Given the description of an element on the screen output the (x, y) to click on. 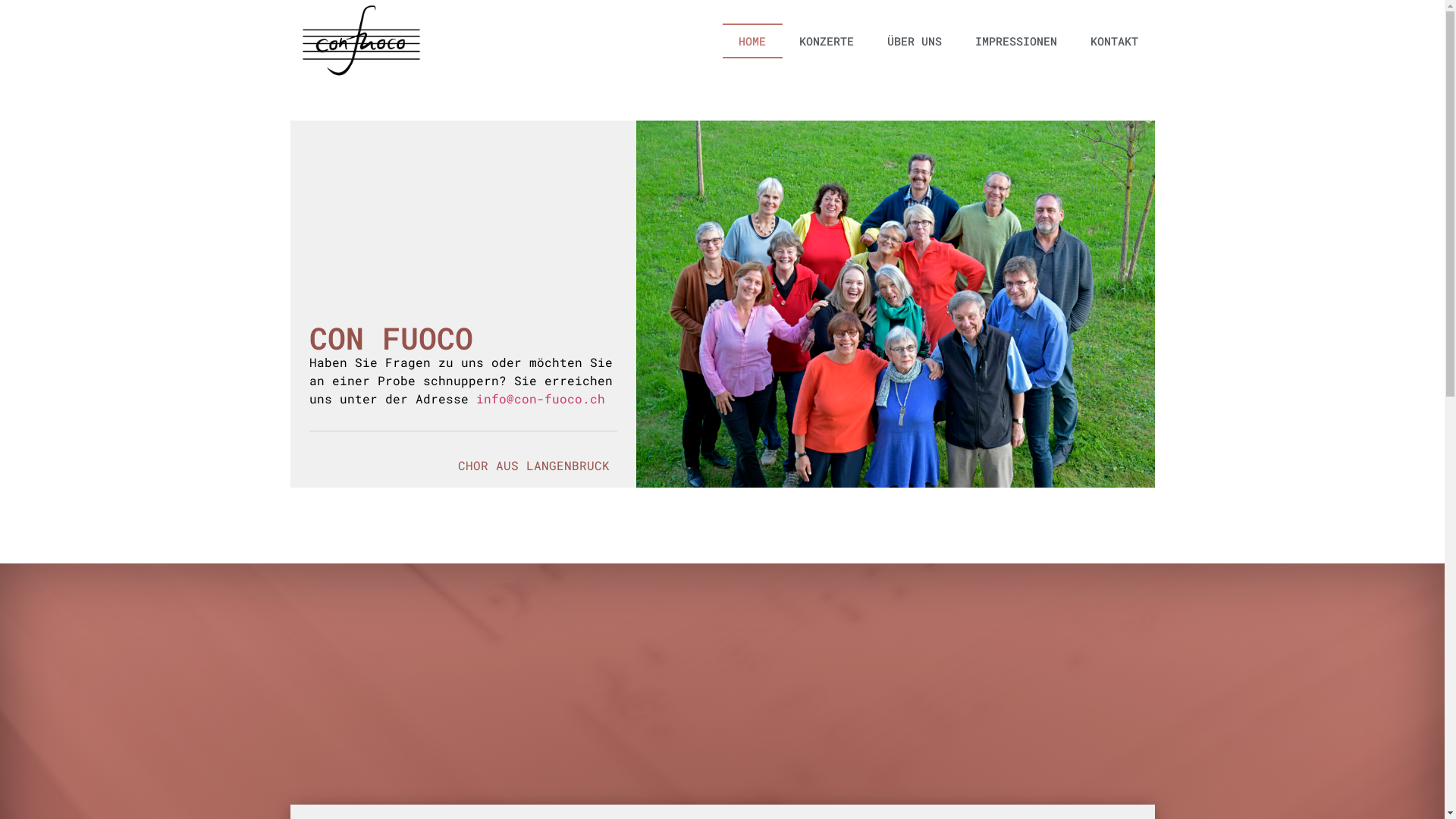
CHOR AUS LANGENBRUCK Element type: text (533, 465)
info@con-fuoco.ch Element type: text (540, 398)
KONTAKT Element type: text (1113, 40)
HOME Element type: text (751, 40)
KONZERTE Element type: text (826, 40)
IMPRESSIONEN Element type: text (1015, 40)
